Given the description of an element on the screen output the (x, y) to click on. 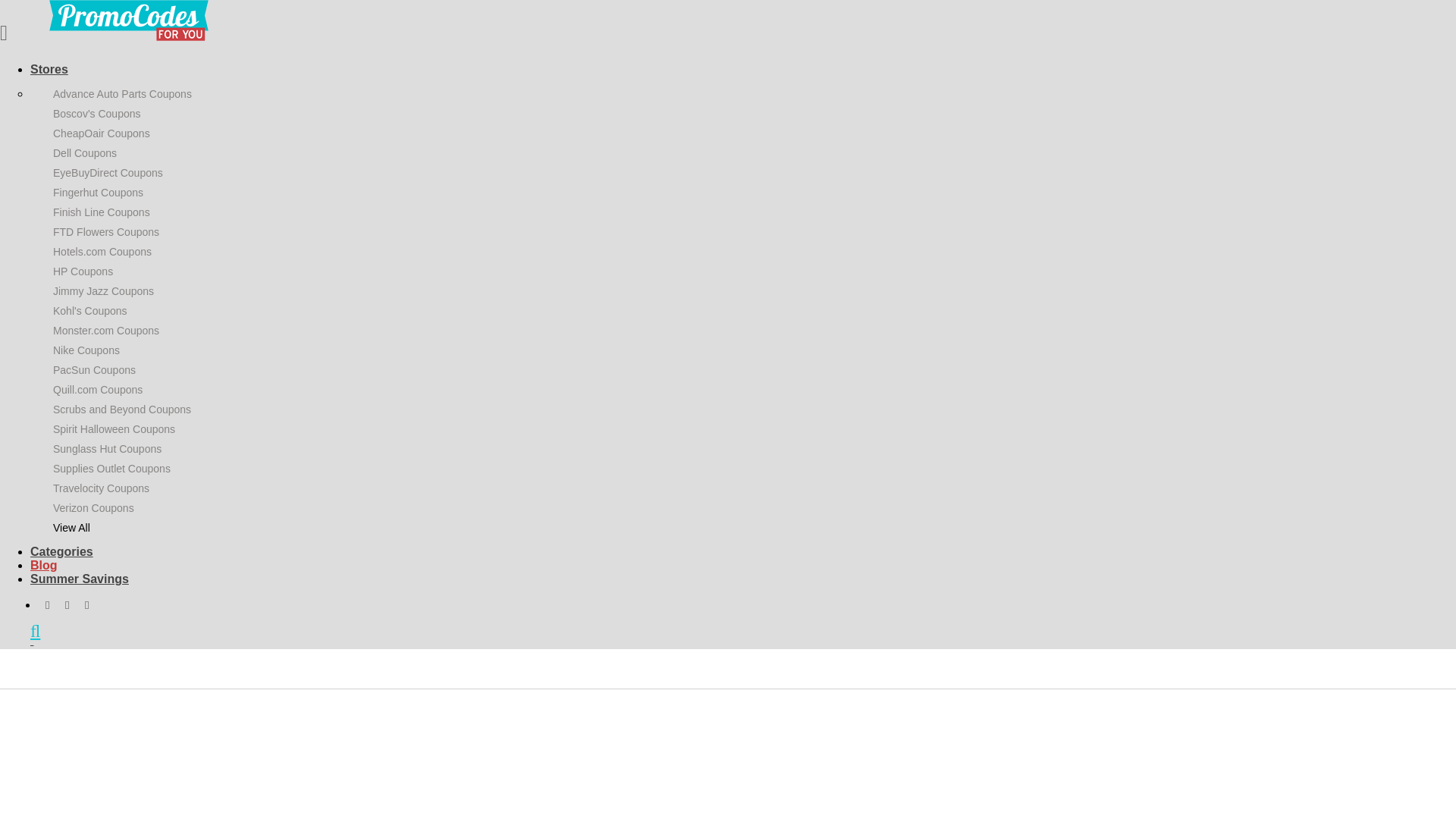
Nike Coupons (85, 349)
Scrubs and Beyond Coupons (121, 409)
Sunglass Hut Coupons (106, 449)
Stores (49, 69)
Travelocity Coupons (100, 488)
Finish Line Coupons (100, 212)
EyeBuyDirect Coupons (107, 173)
Verizon Coupons (92, 508)
Summer Savings (79, 579)
View All (71, 527)
CheapOair Coupons (100, 133)
Hotels.com Coupons (101, 251)
PacSun Coupons (93, 369)
Advance Auto Parts Coupons (122, 93)
Boscov's Coupons (96, 113)
